Given the description of an element on the screen output the (x, y) to click on. 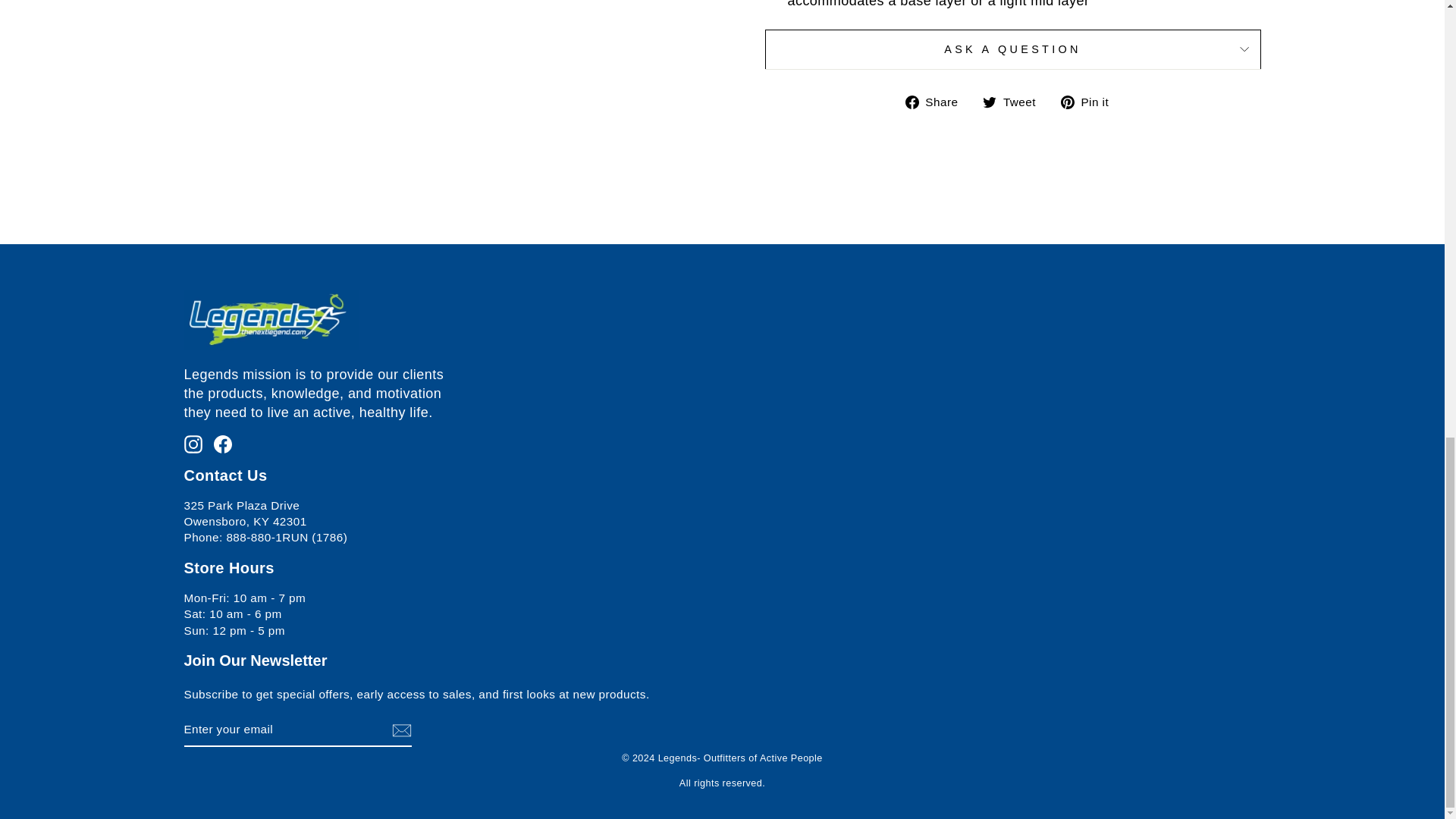
Legends- Outfitters of Active People on Instagram (192, 443)
Tweet on Twitter (1014, 101)
Legends- Outfitters of Active People on Facebook (222, 443)
Pin on Pinterest (1090, 101)
Share on Facebook (937, 101)
